Given the description of an element on the screen output the (x, y) to click on. 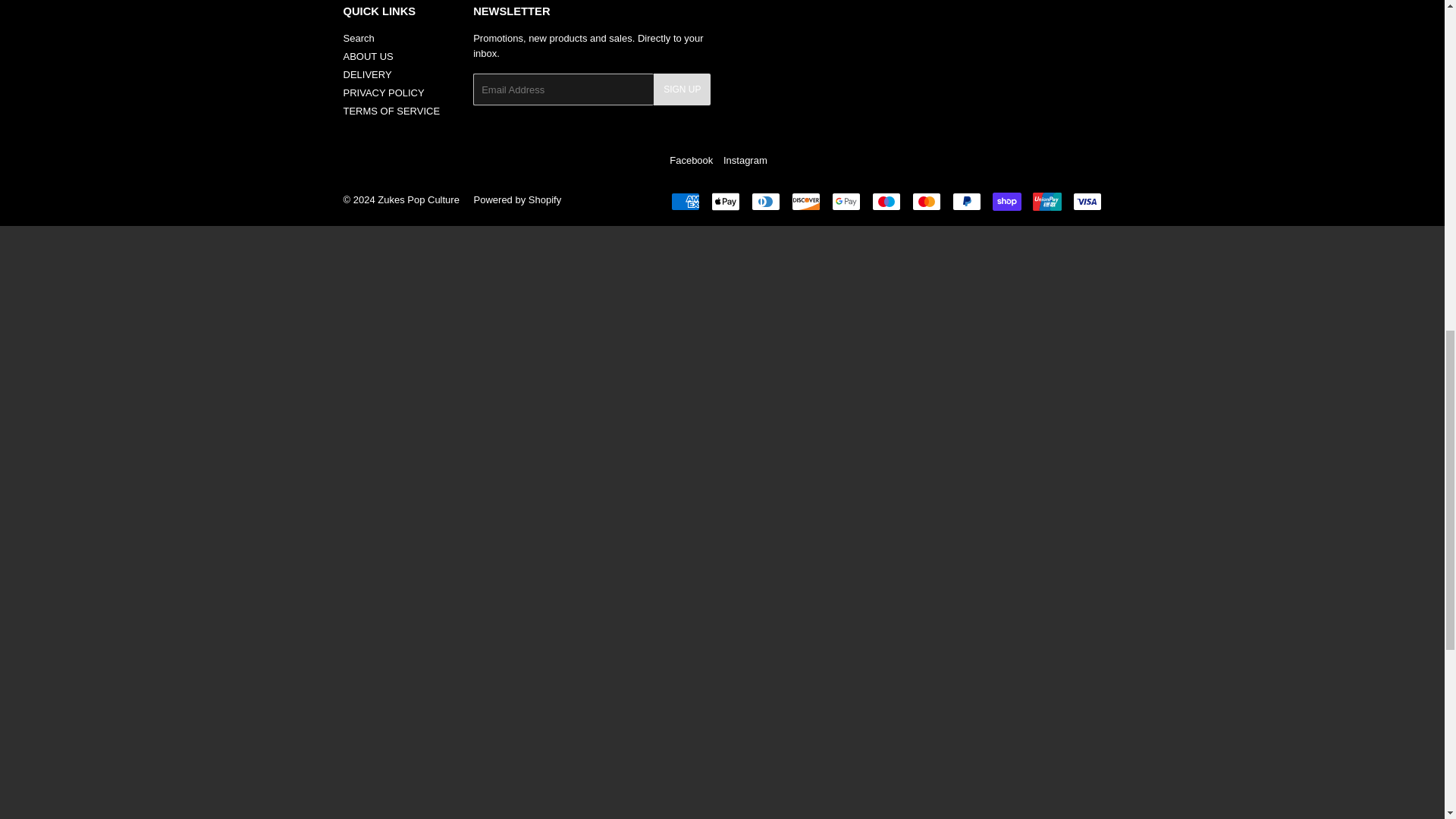
American Express (683, 201)
Maestro (886, 201)
Shop Pay (1005, 201)
Union Pay (1046, 201)
Diners Club (764, 201)
Zukes Pop Culture on Facebook (691, 160)
Discover (806, 201)
Google Pay (845, 201)
Mastercard (925, 201)
Zukes Pop Culture on Instagram (745, 160)
Apple Pay (725, 201)
Visa (1085, 201)
PayPal (966, 201)
